Given the description of an element on the screen output the (x, y) to click on. 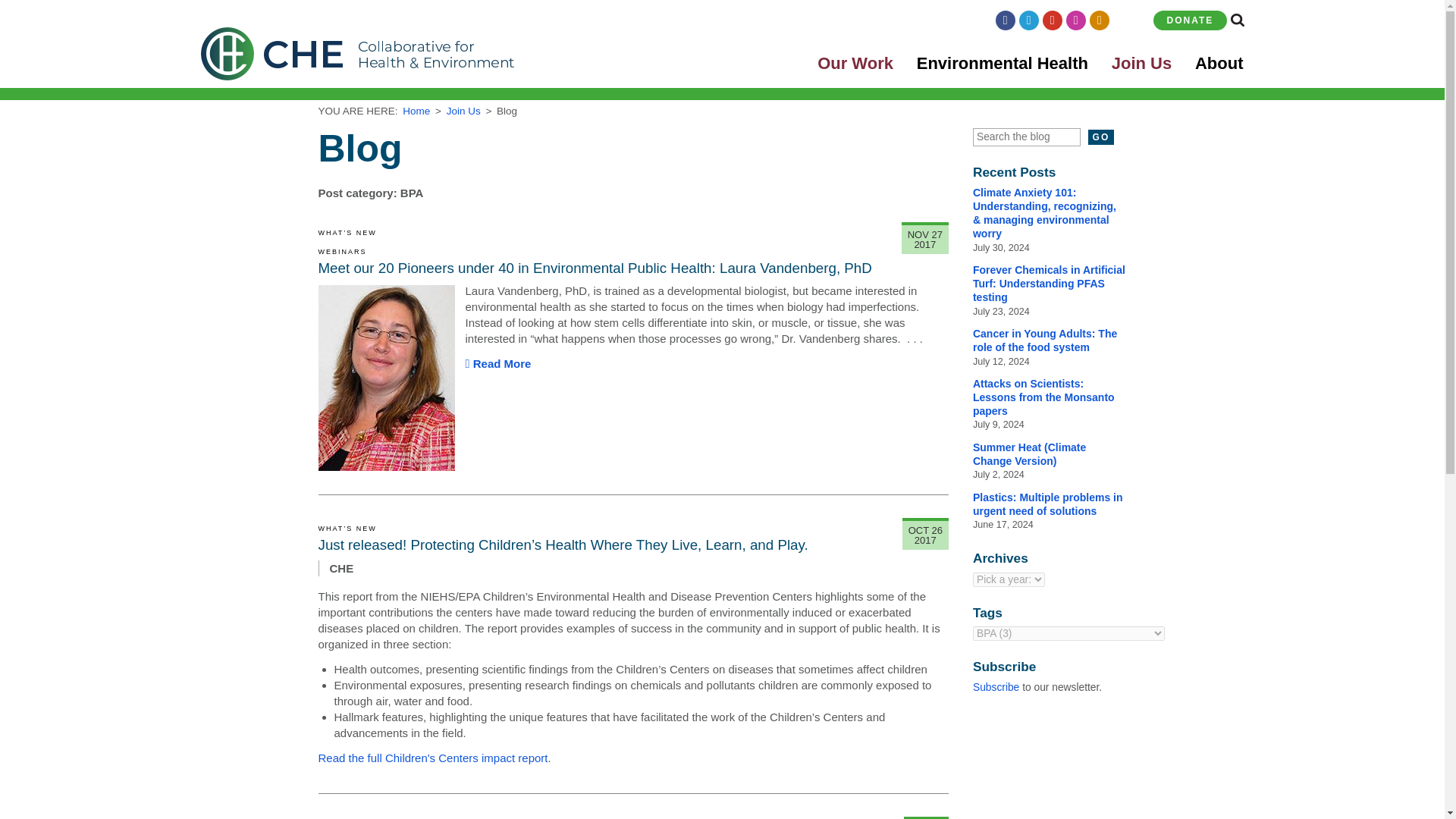
GO (1101, 136)
